Given the description of an element on the screen output the (x, y) to click on. 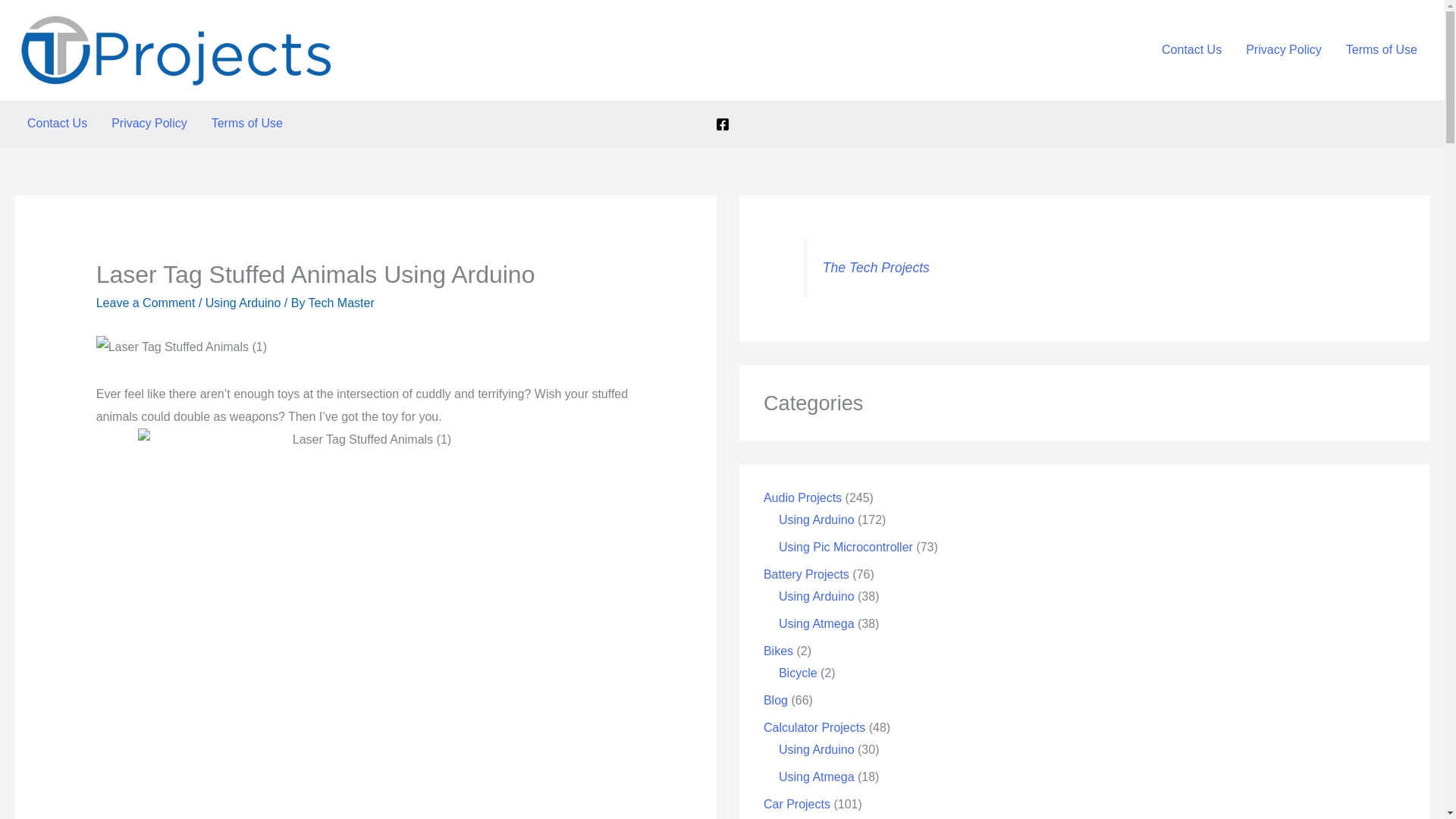
Terms of Use (1381, 49)
Terms of Use (247, 123)
View all posts by Tech Master (341, 302)
Leave a Comment (145, 302)
Tech Master (341, 302)
Contact Us (1191, 49)
Privacy Policy (149, 123)
Using Arduino (243, 302)
Privacy Policy (1283, 49)
Contact Us (56, 123)
